Given the description of an element on the screen output the (x, y) to click on. 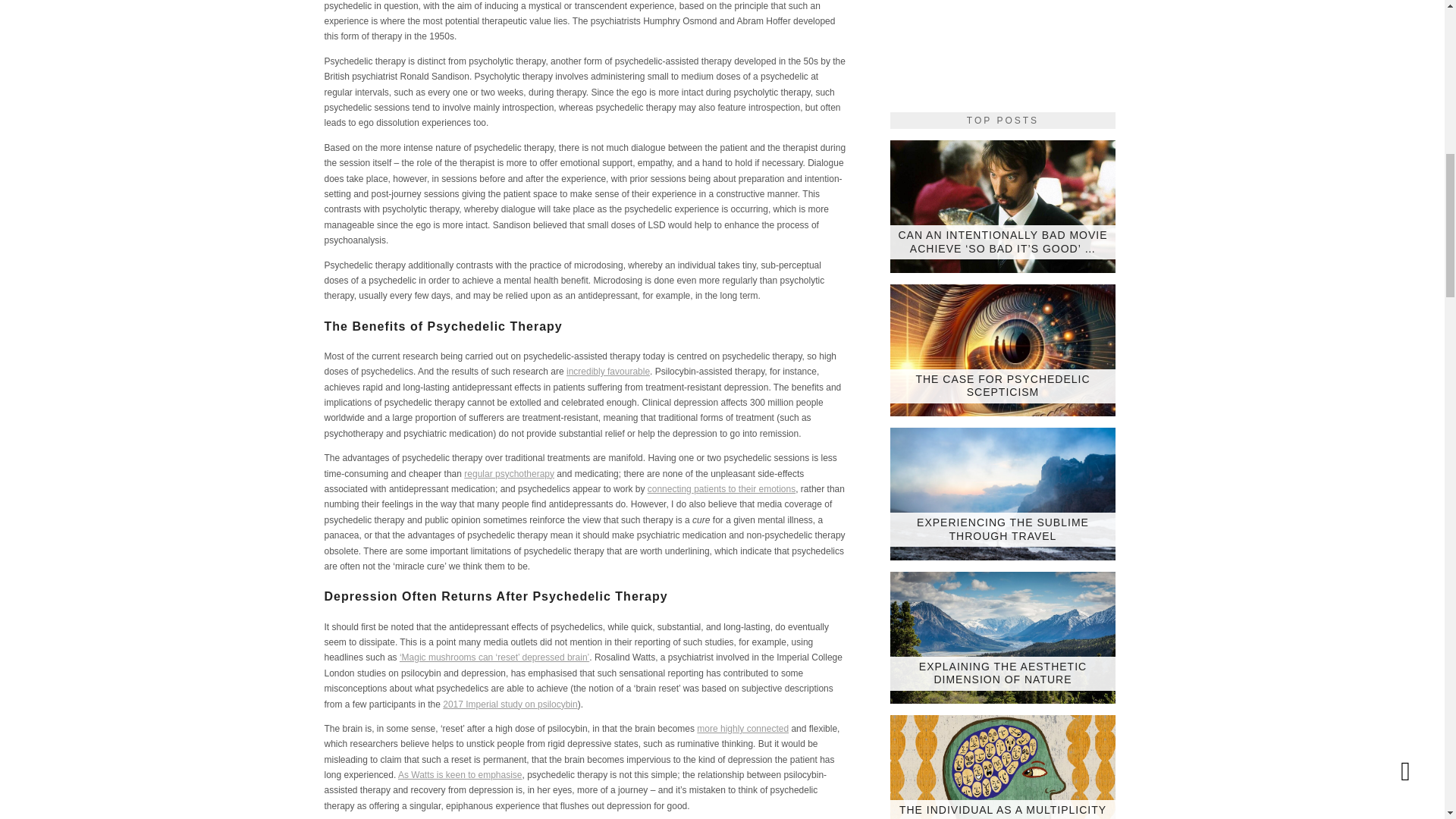
more highly connected (743, 728)
connecting patients to their emotions (720, 489)
regular psychotherapy (509, 473)
incredibly favourable (607, 371)
As Watts is keen to emphasise (459, 774)
2017 Imperial study on psilocybin (509, 704)
